Given the description of an element on the screen output the (x, y) to click on. 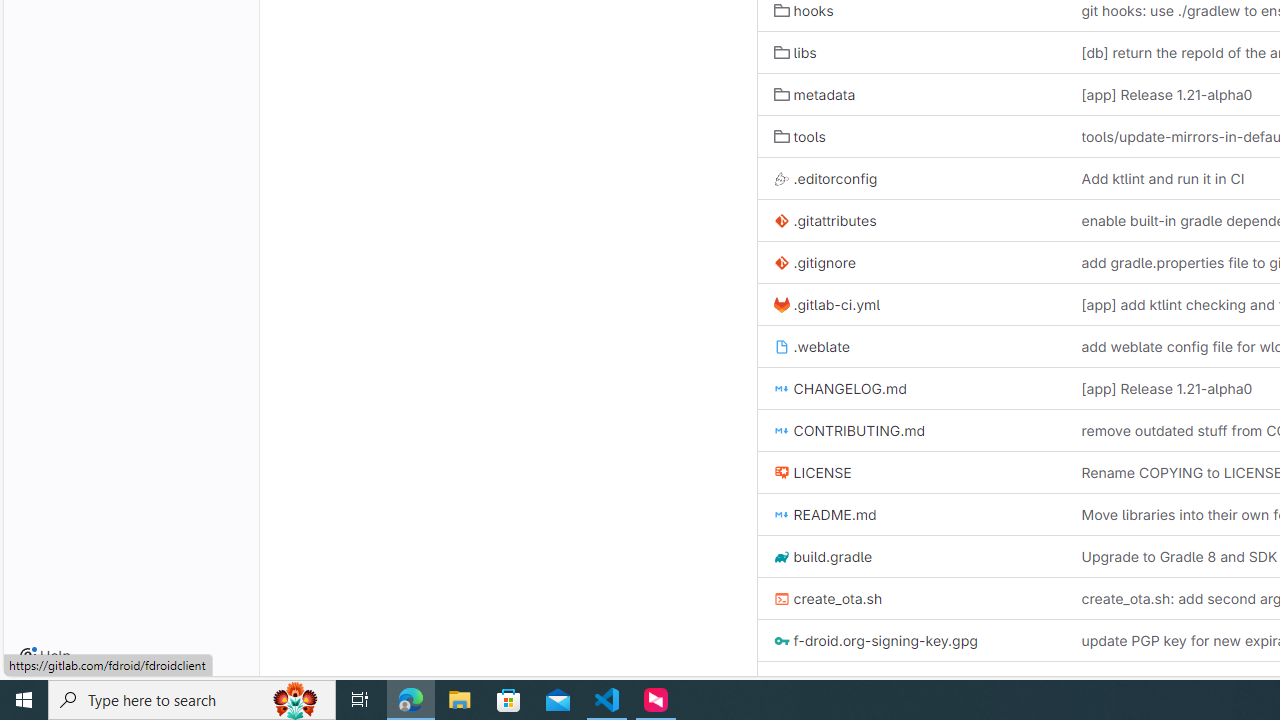
README.md (824, 514)
CONTRIBUTING.md (911, 430)
f-droid.org-signing-key.gpg (911, 640)
gradle.properties (911, 682)
.gitignore (814, 262)
LICENSE (911, 471)
build.gradle (822, 556)
hooks (803, 11)
.editorconfig (825, 178)
tools (799, 136)
.gitattributes (911, 219)
f-droid.org-signing-key.gpg (875, 641)
.gitattributes (824, 220)
libs (794, 52)
README.md (911, 514)
